Given the description of an element on the screen output the (x, y) to click on. 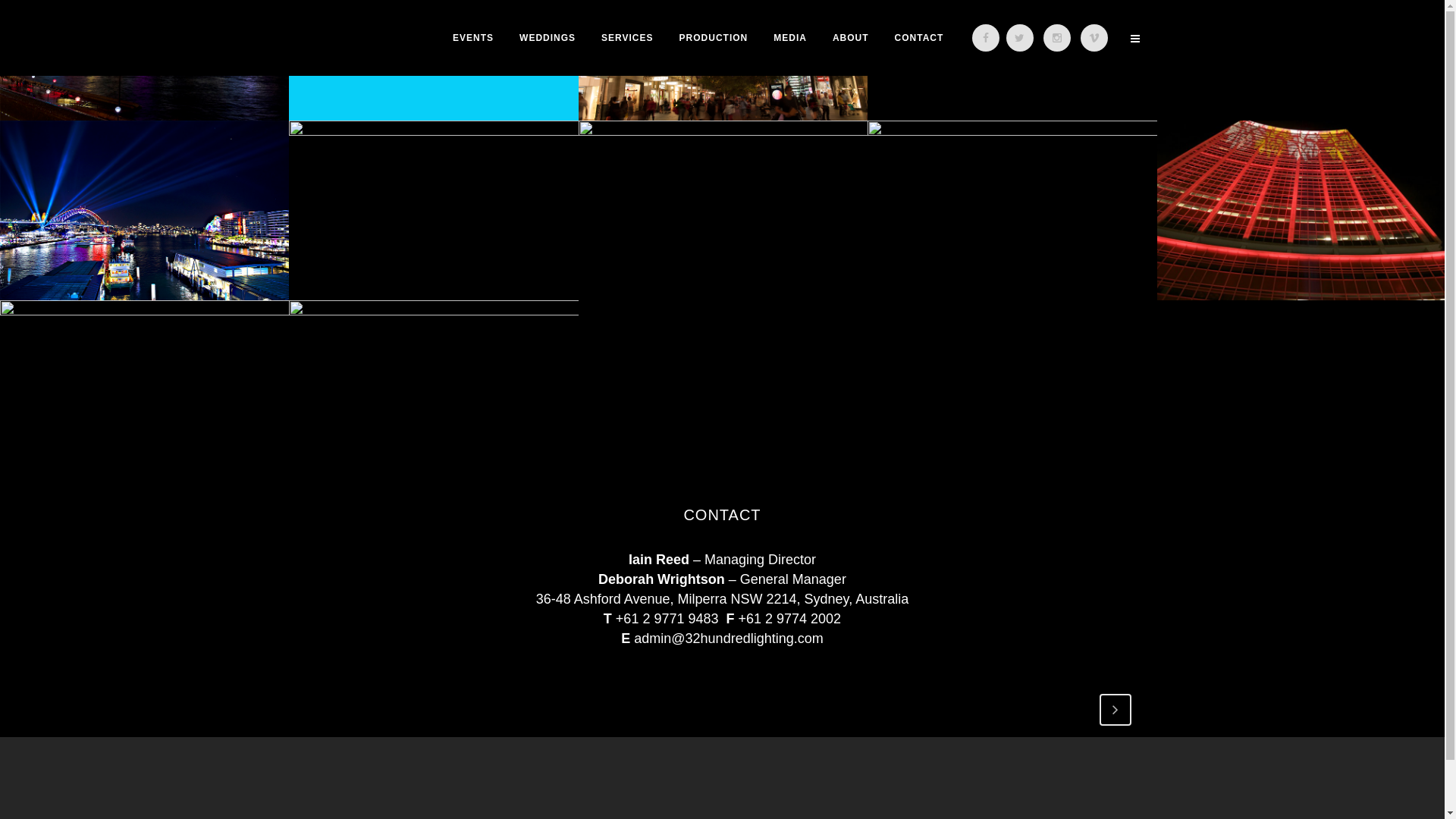
EVENTS Element type: text (472, 37)
admin@32hundredlighting.com Element type: text (727, 638)
MEDIA Element type: text (789, 37)
ABOUT Element type: text (850, 37)
CONTACT Element type: text (919, 37)
PRODUCTION Element type: text (713, 37)
WEDDINGS Element type: text (547, 37)
SERVICES Element type: text (626, 37)
